Given the description of an element on the screen output the (x, y) to click on. 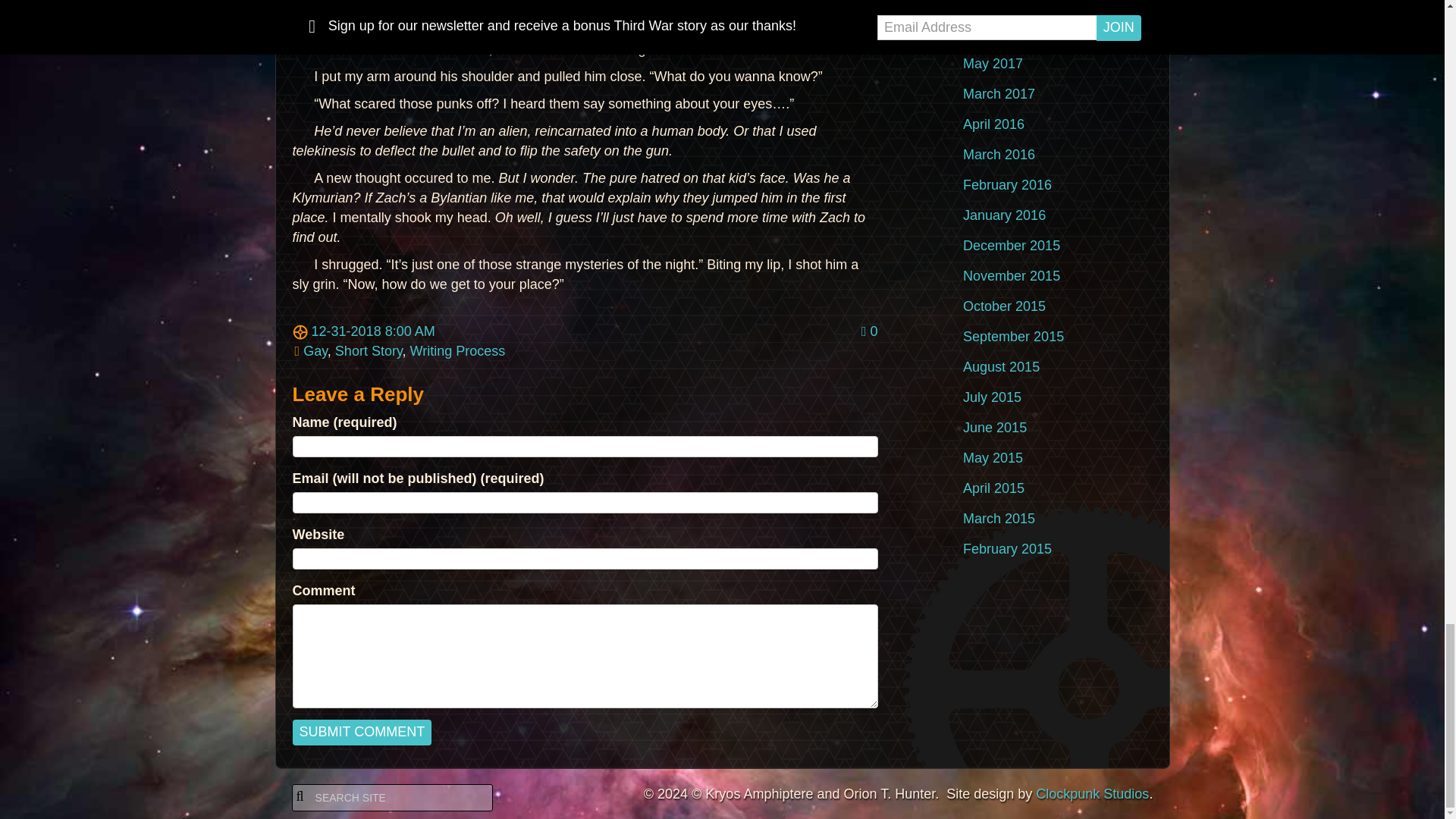
0 (869, 331)
Writing Process (457, 350)
Short Story (368, 350)
12-31-2018 8:00 AM (363, 331)
Gay (314, 350)
Submit Comment (362, 732)
Submit Comment (362, 732)
